Given the description of an element on the screen output the (x, y) to click on. 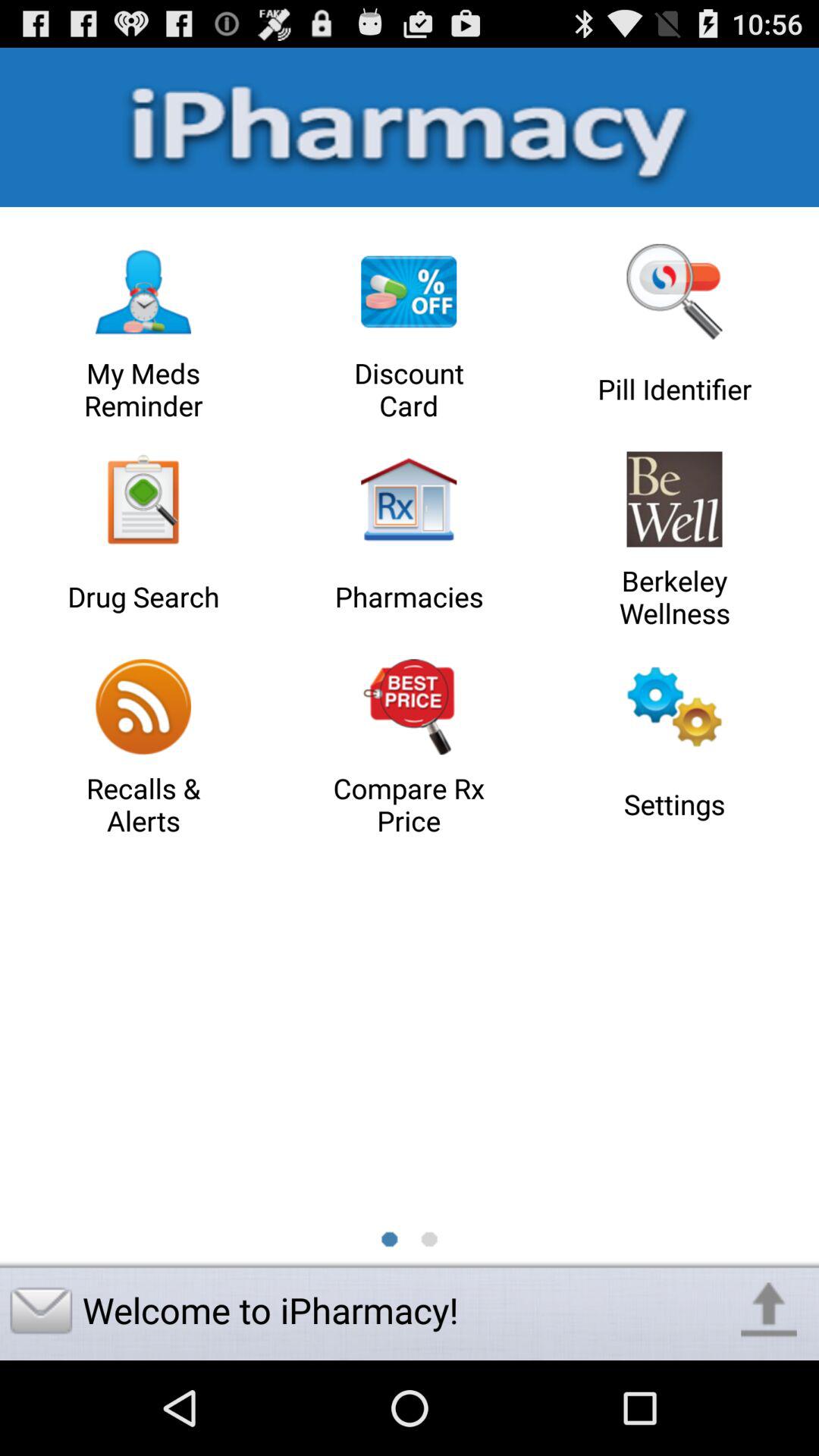
turn off the app below the settings item (768, 1310)
